Given the description of an element on the screen output the (x, y) to click on. 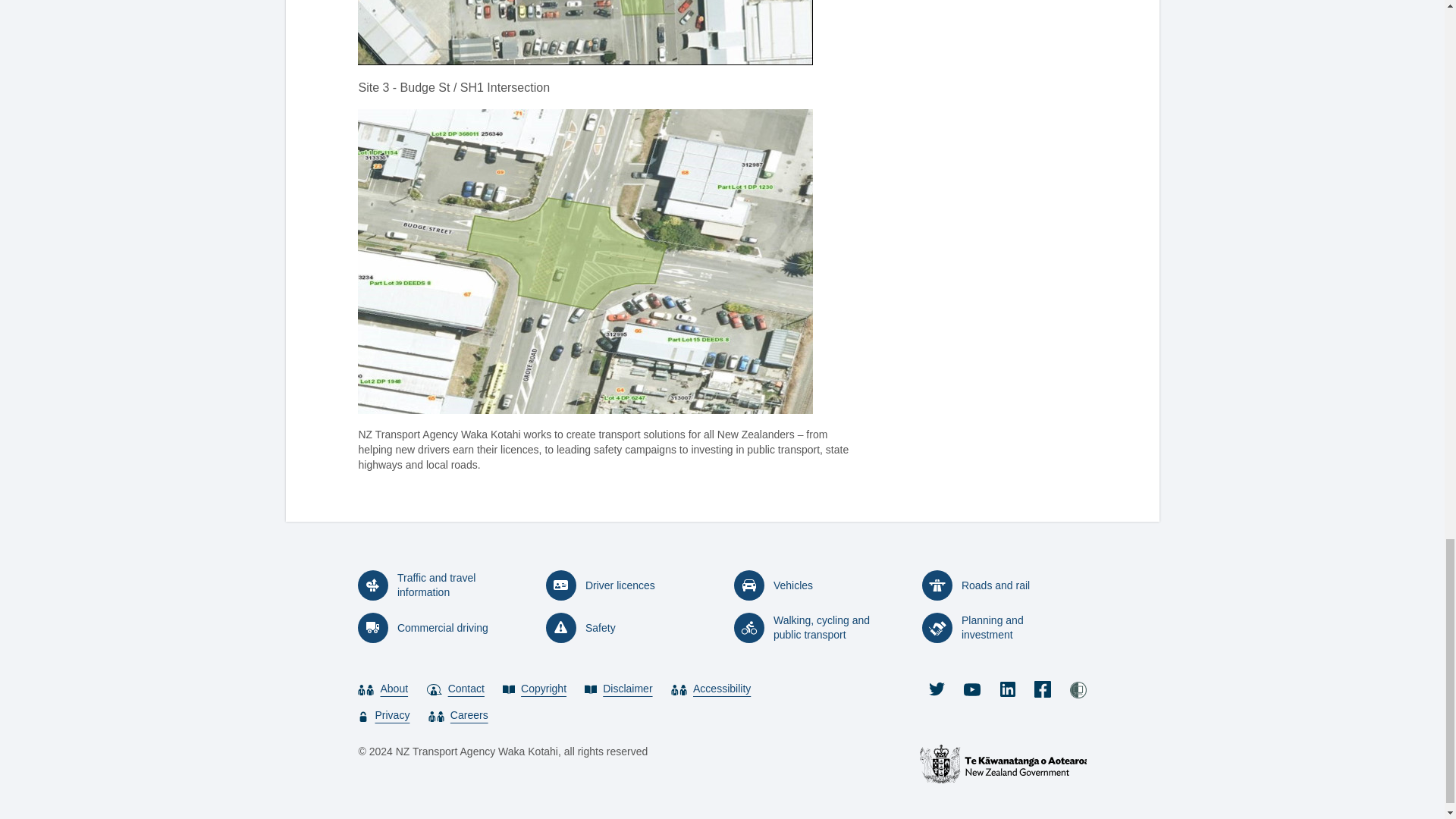
20221118 Blenheim site 2 (585, 32)
